Given the description of an element on the screen output the (x, y) to click on. 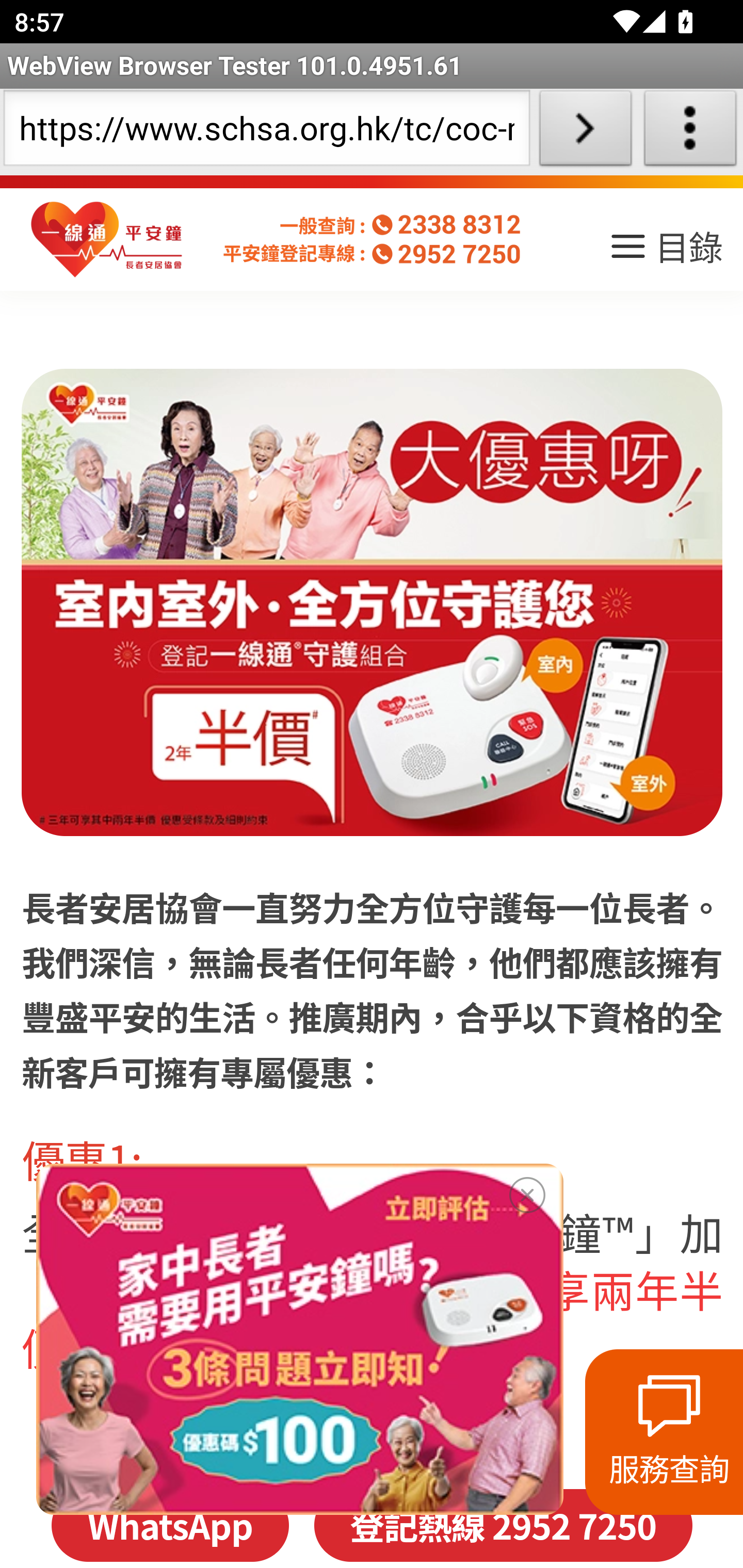
Load URL (585, 132)
About WebView (690, 132)
homepage (107, 240)
目錄 (665, 252)
Dec Coupon Code Allsize Popup 300x200 Yescta (299, 1338)
site.close (526, 1191)
服務查詢 (664, 1432)
WhatsApp (169, 1525)
登記熱線 2952 7250 (502, 1525)
